Given the description of an element on the screen output the (x, y) to click on. 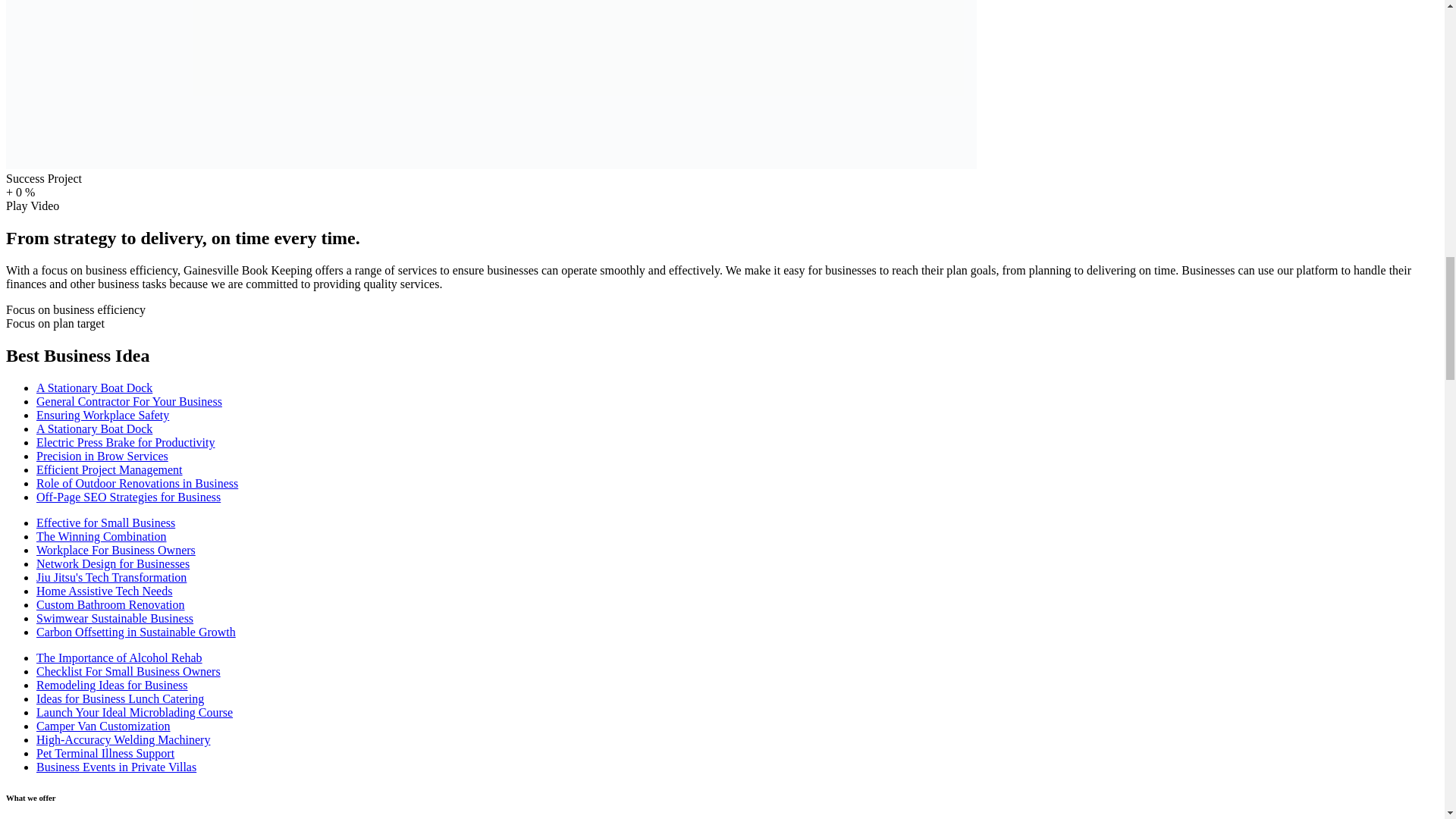
Off-Page SEO Strategies for Business (128, 496)
The Winning Combination (101, 535)
Electric Press Brake for Productivity (125, 441)
Carbon Offsetting in Sustainable Growth (135, 631)
Remodeling Ideas for Business (111, 684)
Network Design for Businesses (112, 563)
Launch Your Ideal Microblading Course (134, 712)
Workplace For Business Owners (115, 549)
Home Assistive Tech Needs (103, 590)
Role of Outdoor Renovations in Business (137, 482)
